Given the description of an element on the screen output the (x, y) to click on. 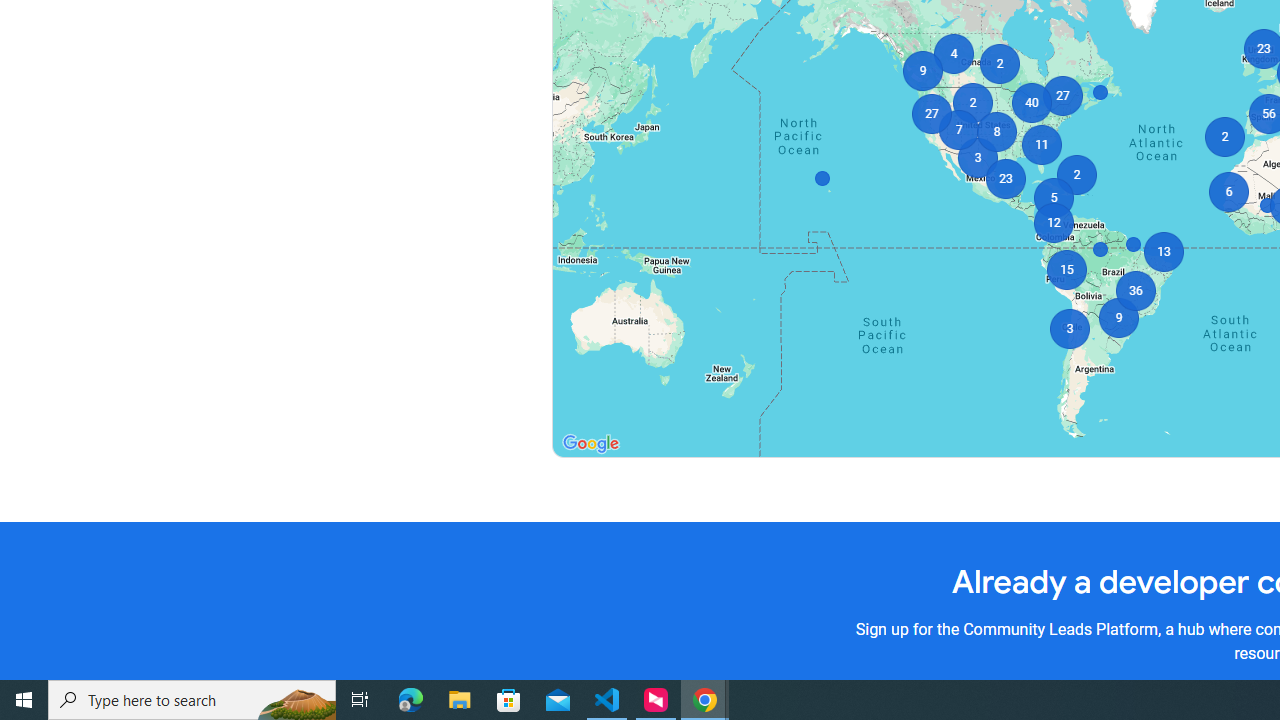
3 (1069, 328)
Open this area in Google Maps (opens a new window) (590, 444)
40 (1031, 102)
11 (1041, 144)
7 (958, 129)
4 (953, 53)
2 (1076, 174)
6 (1228, 191)
36 (1134, 290)
5 (1052, 197)
15 (1065, 269)
13 (1163, 251)
12 (1052, 223)
23 (1005, 178)
